Given the description of an element on the screen output the (x, y) to click on. 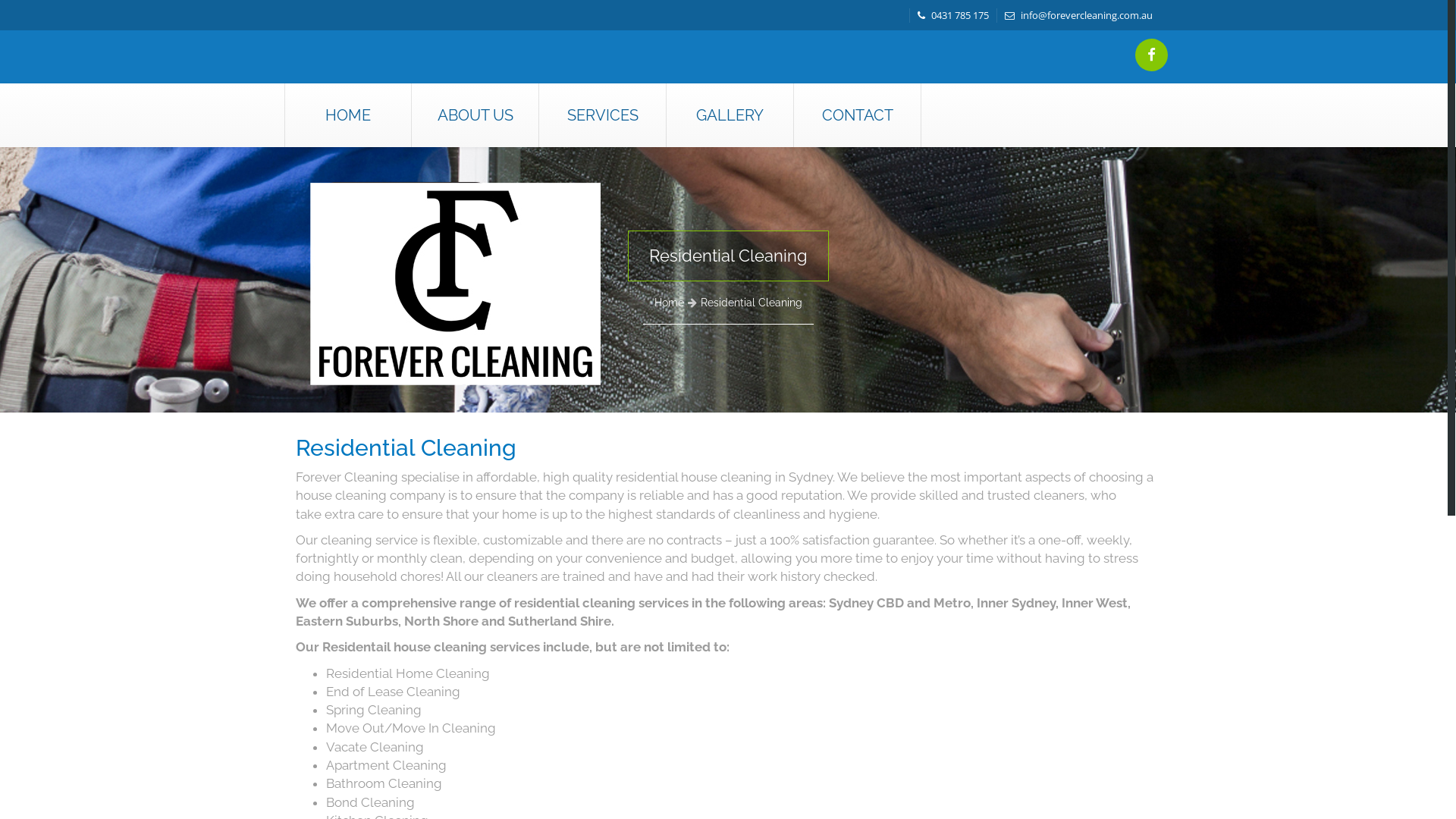
CONTACT Element type: text (856, 115)
Home Element type: text (668, 302)
SERVICES Element type: text (602, 115)
info@forevercleaning.com.au Element type: text (1078, 14)
GALLERY Element type: text (729, 115)
HOME Element type: text (348, 115)
ABOUT US Element type: text (474, 115)
Facebook Element type: hover (1151, 54)
0431 785 175 Element type: text (953, 14)
